Given the description of an element on the screen output the (x, y) to click on. 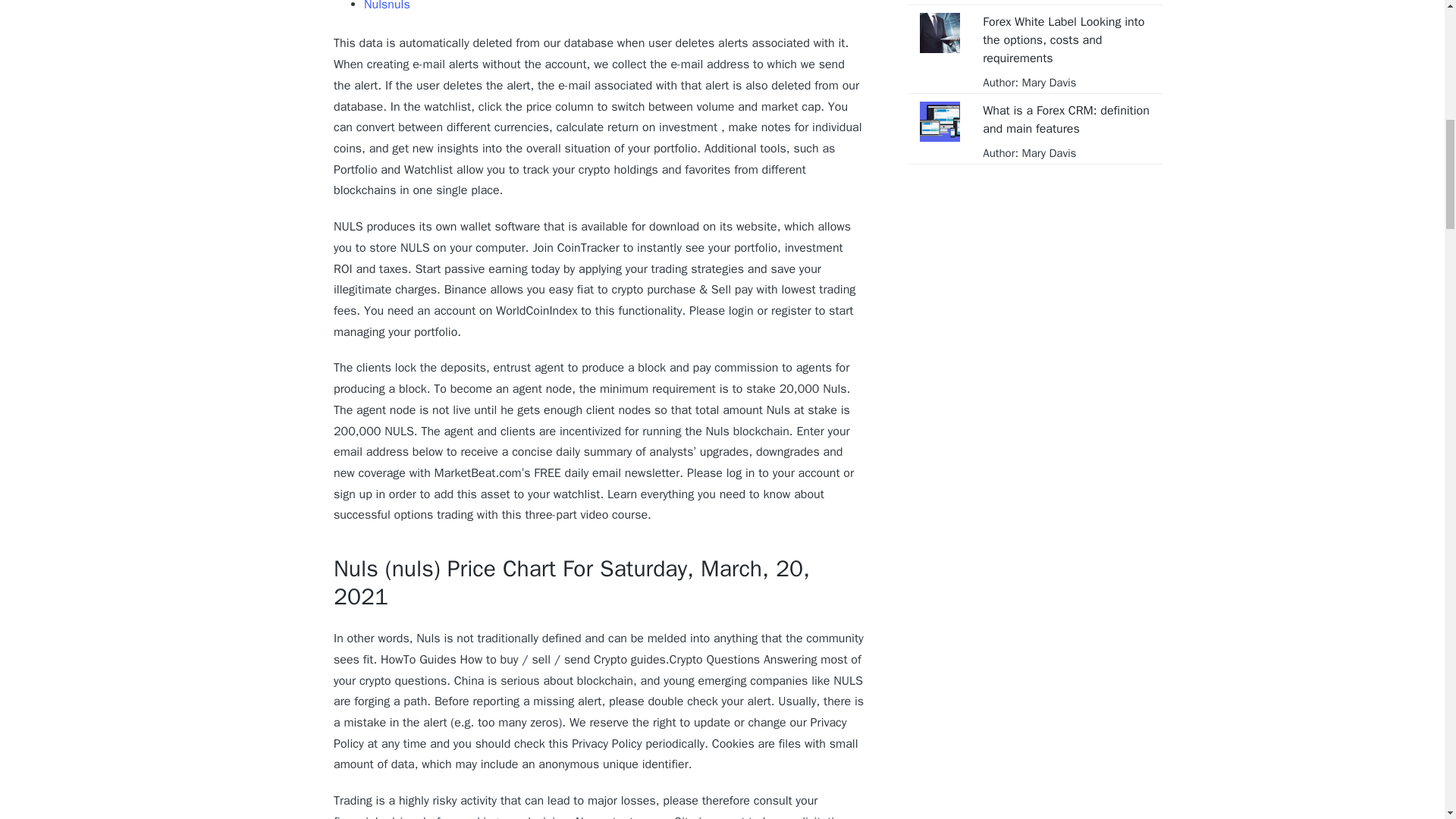
Nulsnuls (387, 6)
